Given the description of an element on the screen output the (x, y) to click on. 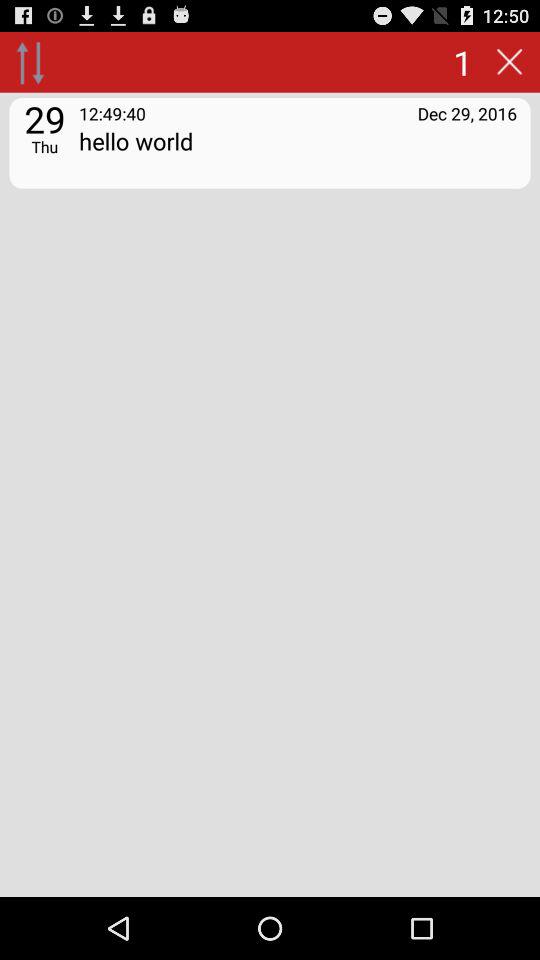
turn on item next to 1 (30, 61)
